Given the description of an element on the screen output the (x, y) to click on. 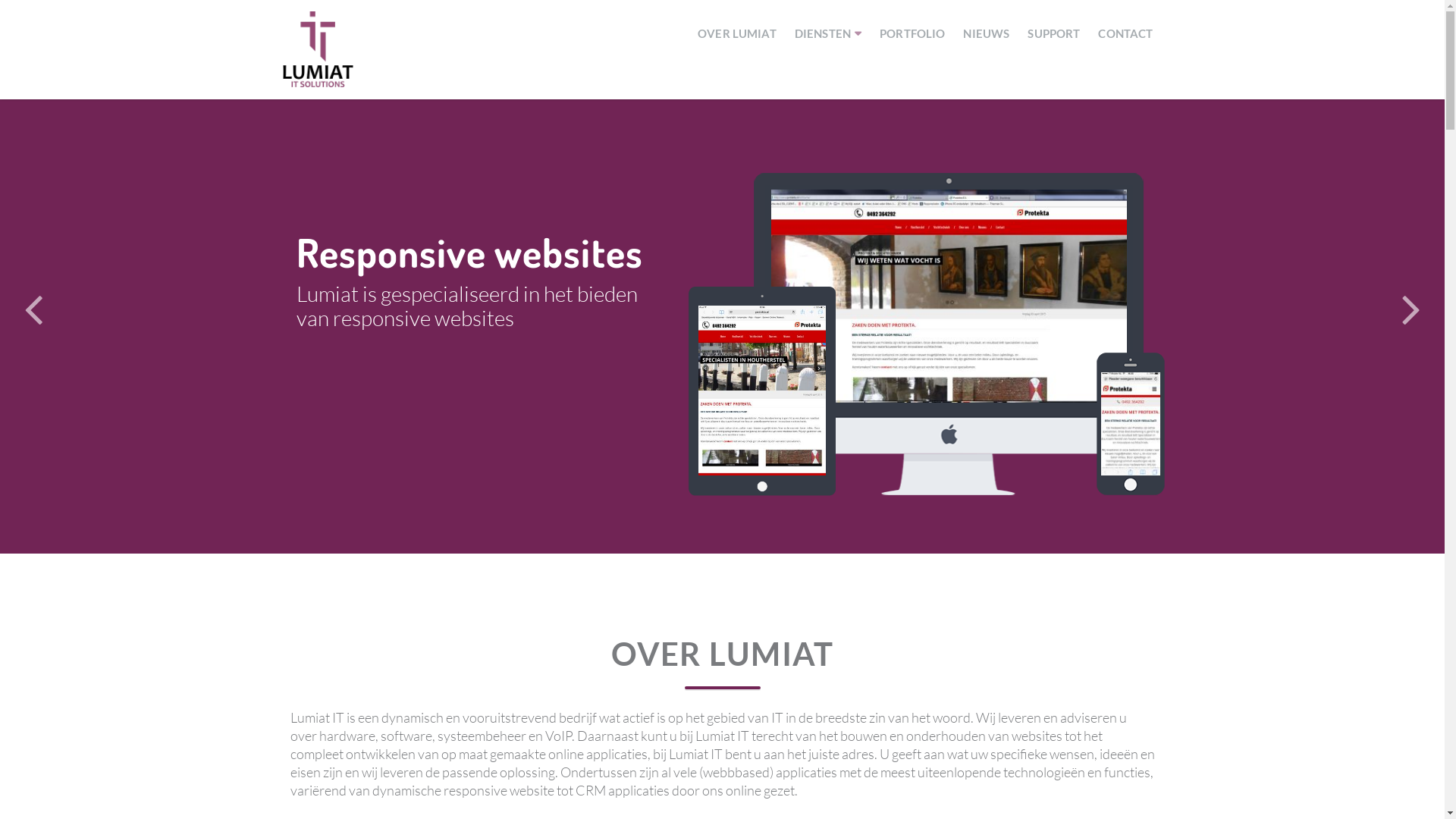
HOME Element type: text (686, 32)
NIEUWS Element type: text (986, 32)
CONTACT Element type: text (1125, 32)
SUPPORT Element type: text (1053, 32)
DIENSTEN Element type: text (827, 33)
OVER LUMIAT Element type: text (736, 32)
PORTFOLIO Element type: text (911, 32)
